Given the description of an element on the screen output the (x, y) to click on. 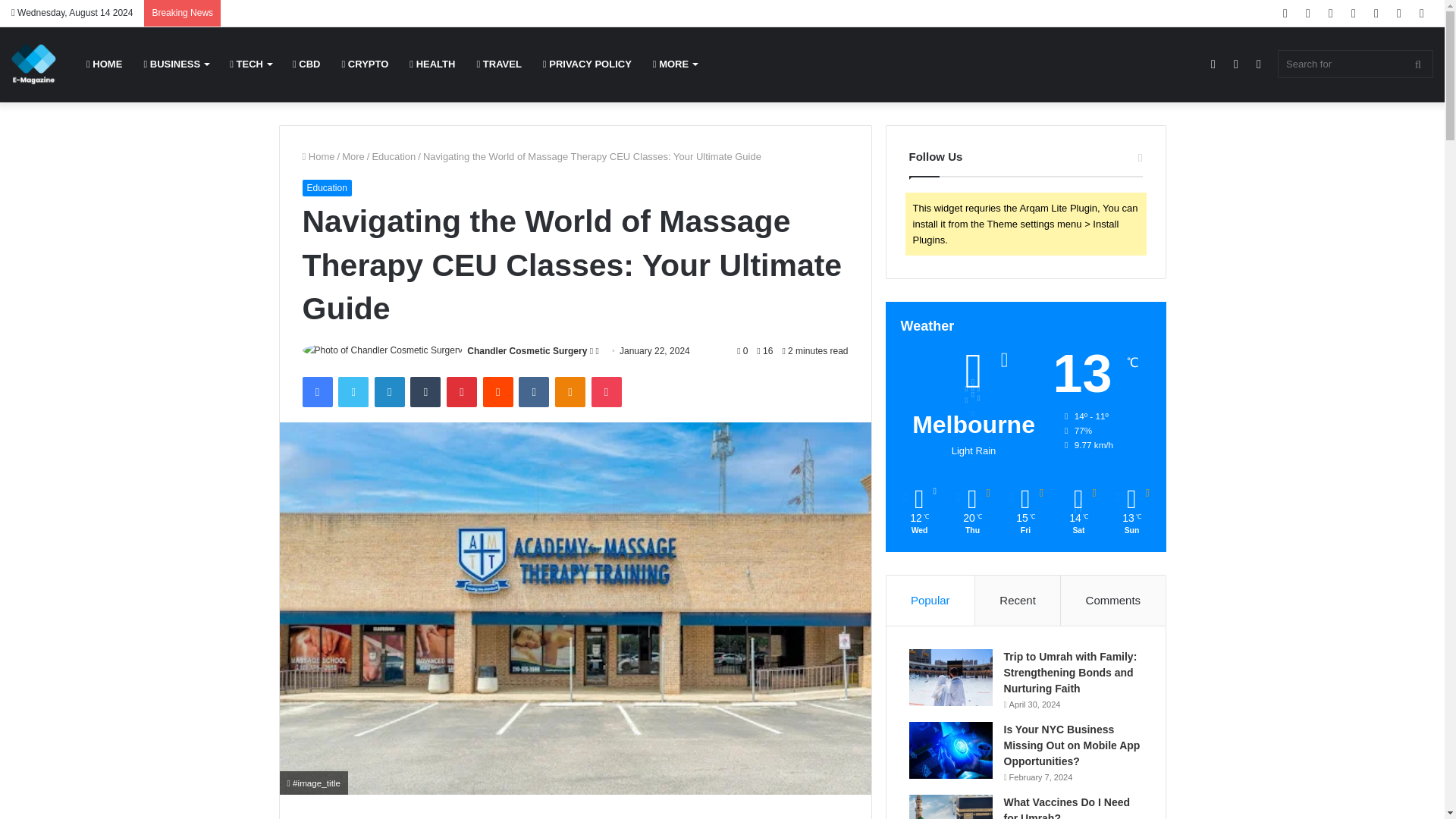
BUSINESS (175, 64)
Pinterest (461, 391)
Facebook (316, 391)
LinkedIn (389, 391)
Tumblr (425, 391)
Search for (1355, 63)
PRIVACY POLICY (587, 64)
CRYPTO (364, 64)
Chandler Cosmetic Surgery (526, 350)
Twitter (352, 391)
